Given the description of an element on the screen output the (x, y) to click on. 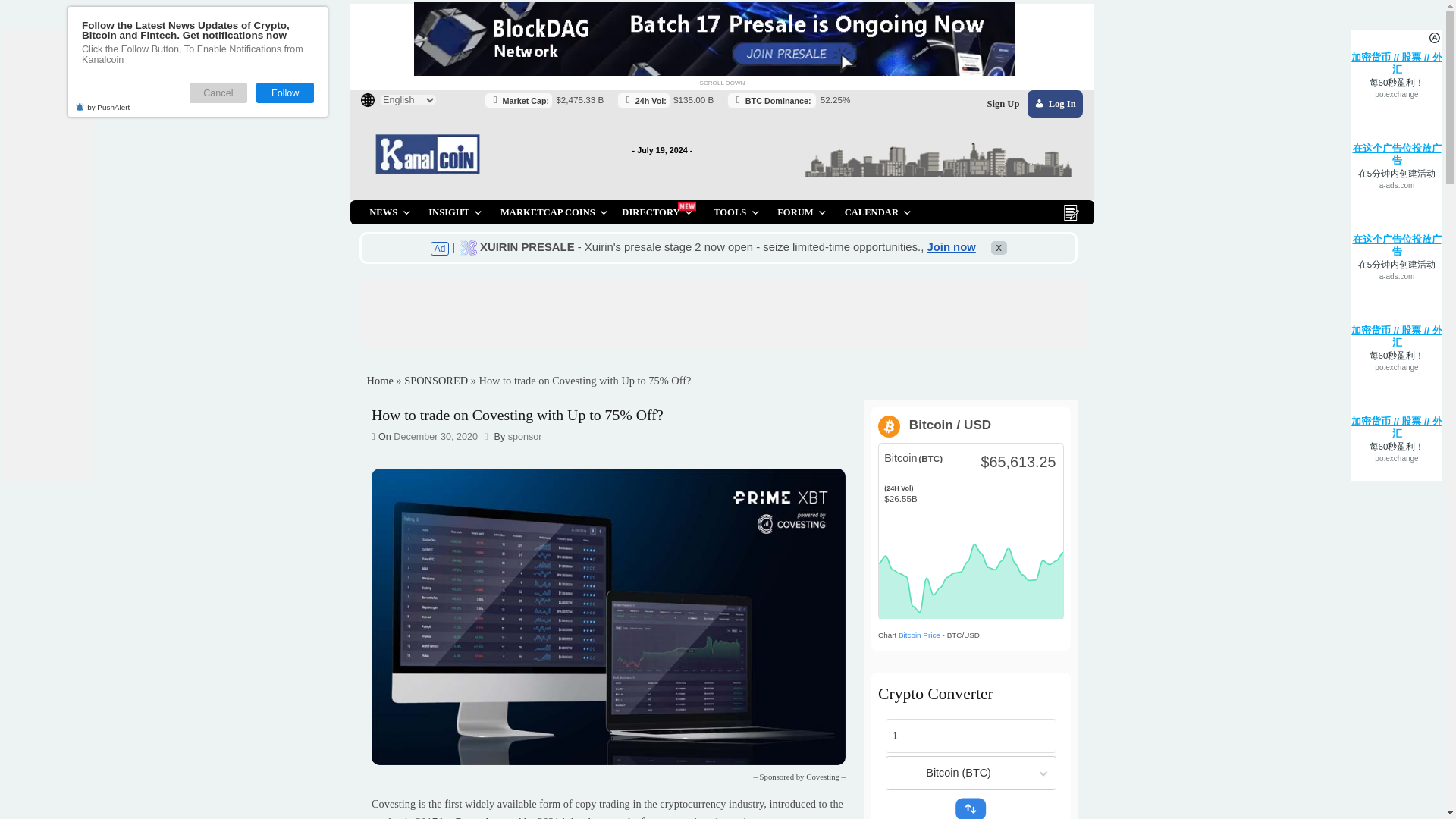
Advertisement (730, 315)
Log In (1172, 114)
Sign Up (1114, 114)
1 (1078, 808)
